Given the description of an element on the screen output the (x, y) to click on. 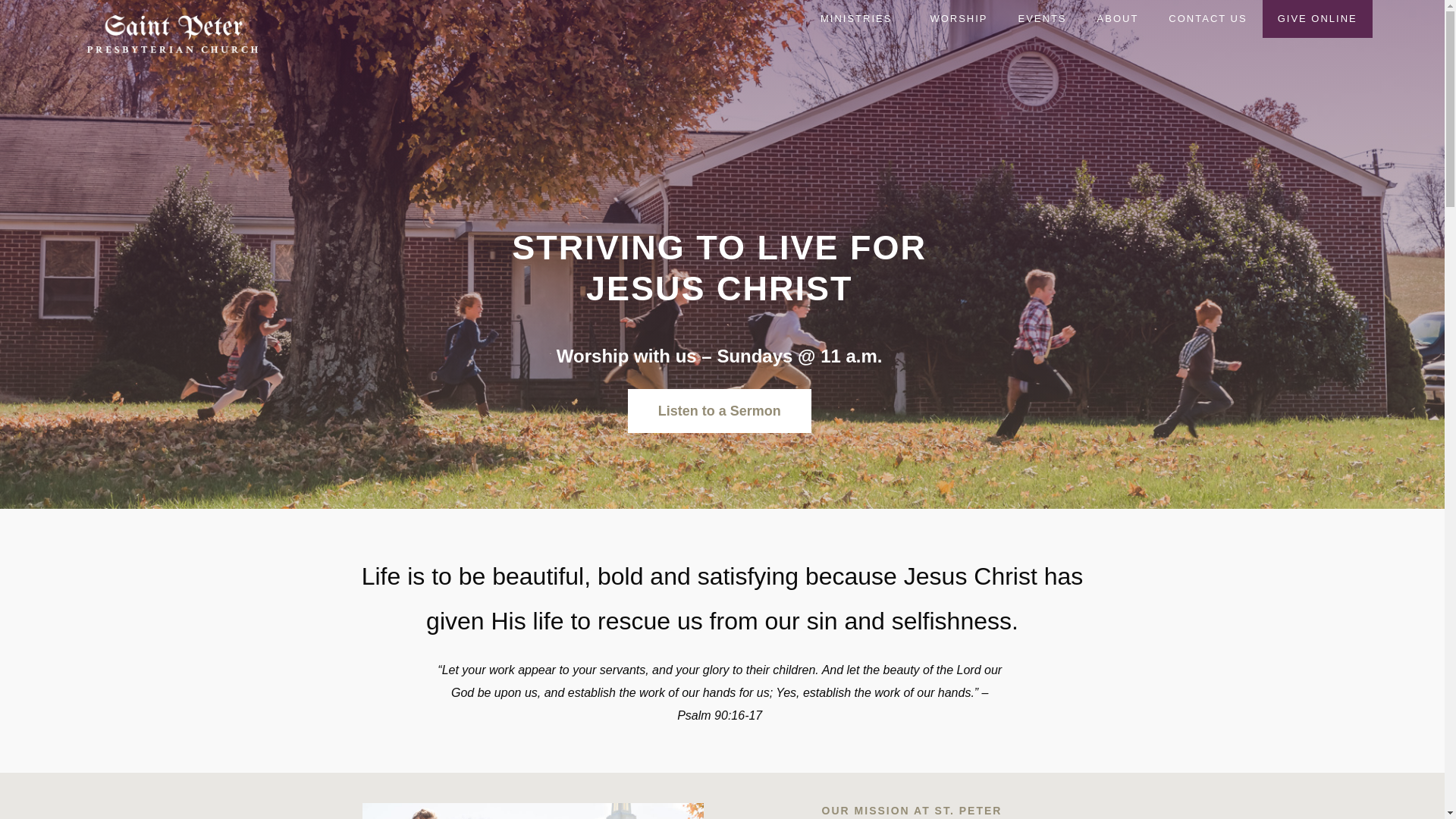
ABOUT (1117, 18)
WORSHIP (958, 18)
Listen to a Sermon (718, 411)
GIVE ONLINE (1317, 18)
EVENTS (1042, 18)
CONTACT US (1207, 18)
MINISTRIES (859, 18)
